Given the description of an element on the screen output the (x, y) to click on. 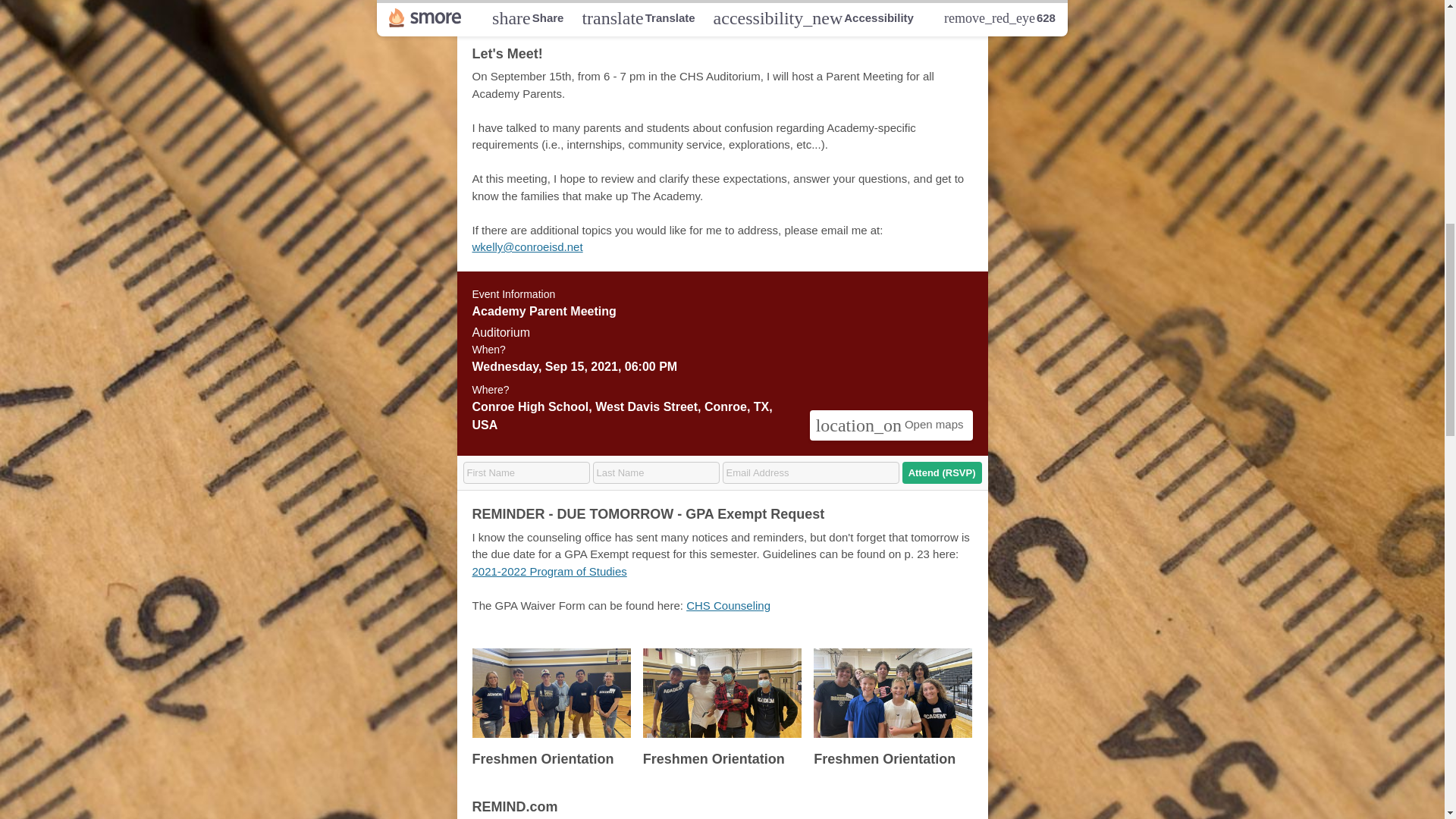
2021-2022 Program of Studies (548, 571)
CHS Counseling (727, 604)
